Given the description of an element on the screen output the (x, y) to click on. 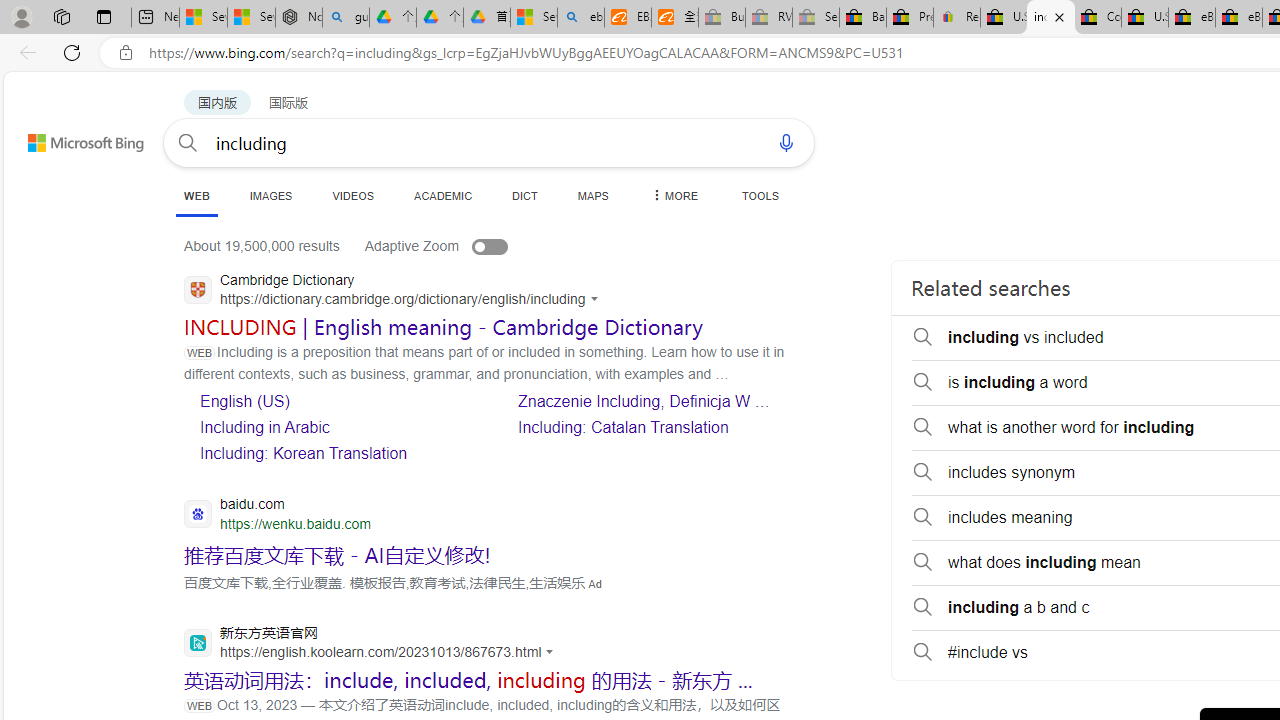
Including: Catalan Translation (655, 426)
MORE (673, 195)
Register: Create a personal eBay account (957, 17)
Adaptive Zoom (456, 245)
Cambridge Dictionary (396, 291)
TOOLS (760, 195)
including - Search (1050, 17)
Press Room - eBay Inc. (910, 17)
Buy Auto Parts & Accessories | eBay - Sleeping (721, 17)
Actions for this site (552, 651)
